Given the description of an element on the screen output the (x, y) to click on. 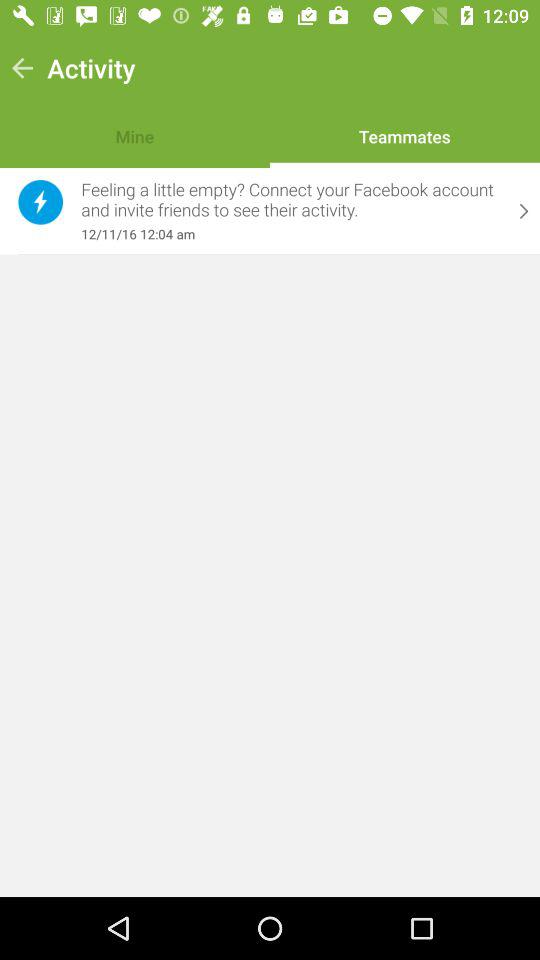
tap the item to the right of the feeling a little item (524, 211)
